Given the description of an element on the screen output the (x, y) to click on. 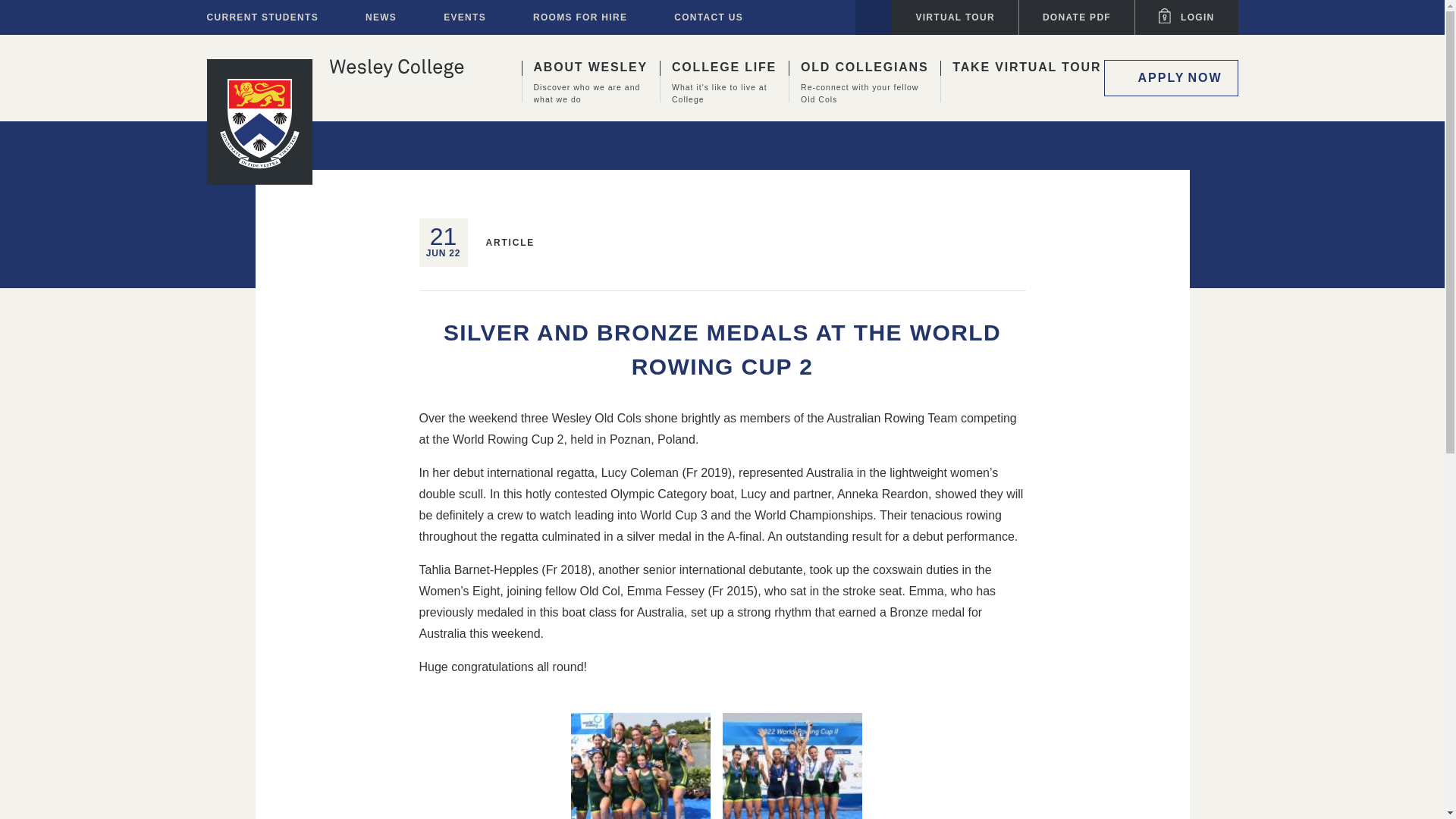
DONATE PDF (1076, 17)
Wesley College (396, 67)
Search (584, 90)
CONTACT US (872, 35)
CURRENT STUDENTS (717, 90)
ROOMS FOR HIRE (708, 17)
VIRTUAL TOUR (262, 17)
